Given the description of an element on the screen output the (x, y) to click on. 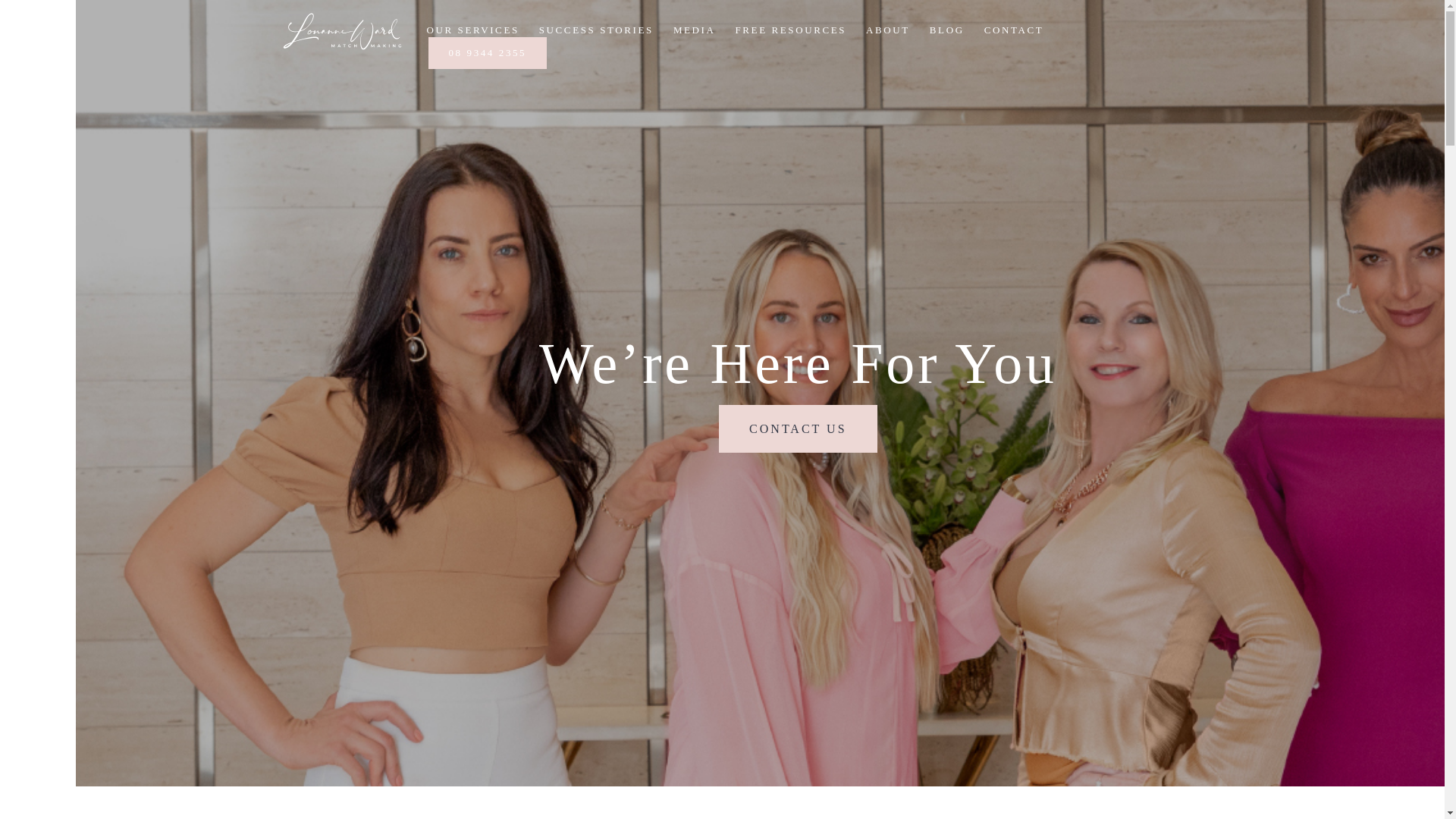
MEDIA (694, 29)
08 9344 2355 (487, 52)
OUR SERVICES (472, 29)
FREE RESOURCES (790, 29)
CONTACT (1013, 29)
ABOUT (888, 29)
SUCCESS STORIES (595, 29)
BLOG (946, 29)
CONTACT US (798, 428)
